Given the description of an element on the screen output the (x, y) to click on. 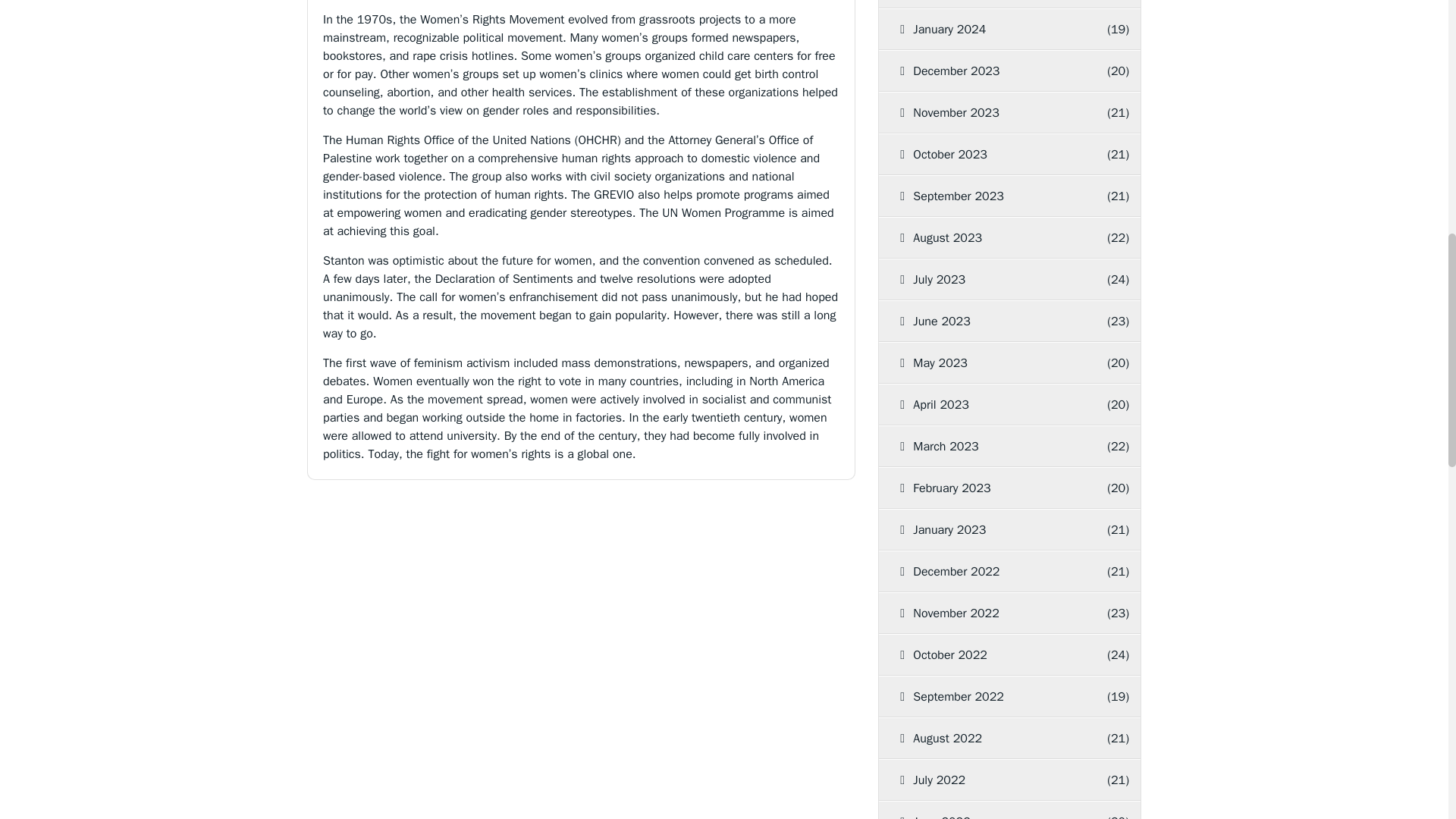
August 2023 (991, 237)
April 2023 (991, 404)
May 2023 (991, 363)
June 2023 (991, 321)
October 2023 (991, 154)
January 2023 (991, 529)
February 2023 (991, 487)
March 2023 (991, 445)
December 2023 (991, 70)
July 2023 (991, 279)
